Given the description of an element on the screen output the (x, y) to click on. 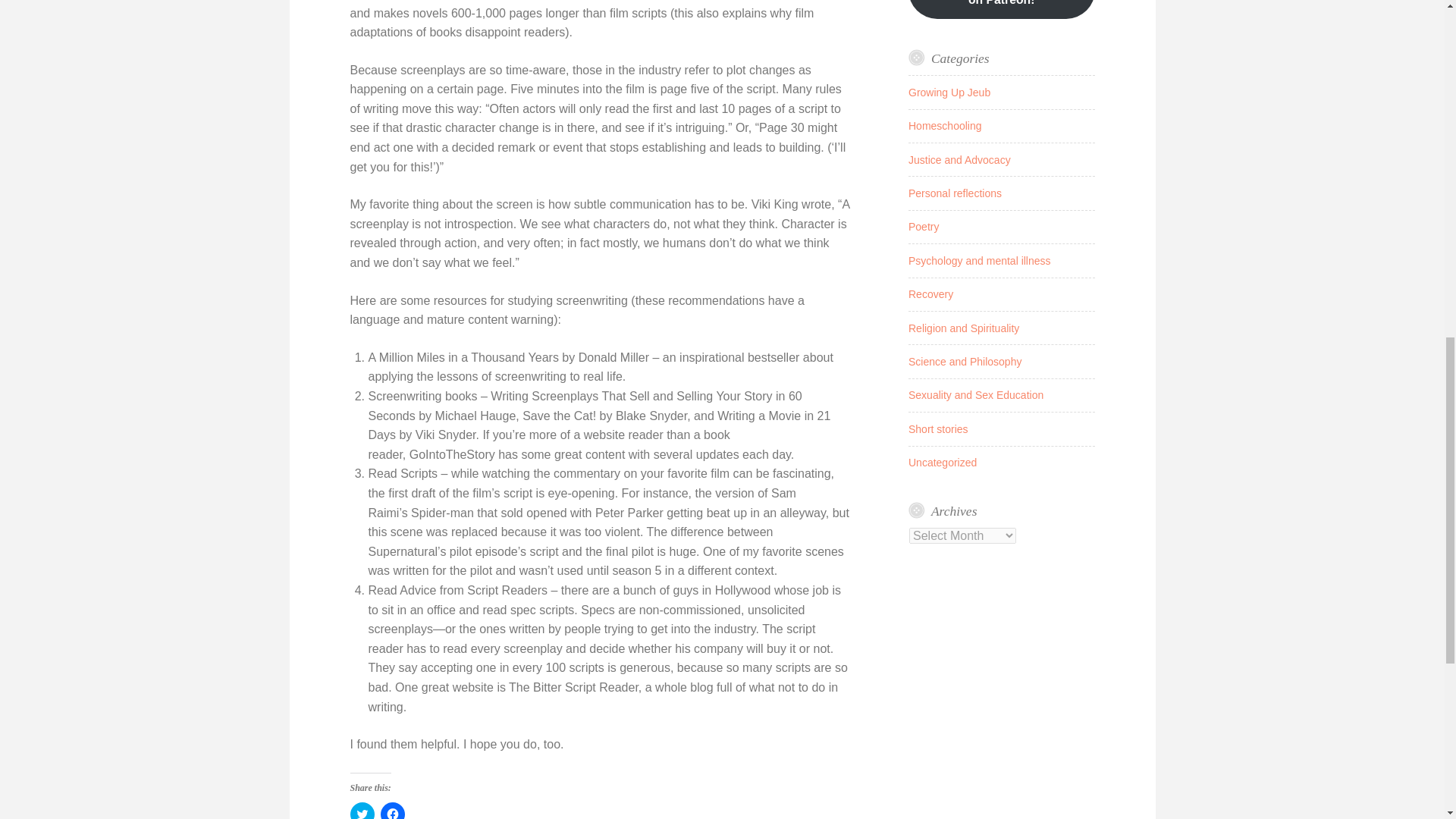
Justice and Advocacy (959, 159)
Recovery (930, 294)
Homeschooling (944, 125)
Click to share on Twitter (362, 810)
Click to share on Facebook (392, 810)
Poetry (923, 226)
Religion and Spirituality (963, 328)
Psychology and mental illness (979, 260)
Growing Up Jeub (949, 92)
Personal reflections (954, 193)
